Given the description of an element on the screen output the (x, y) to click on. 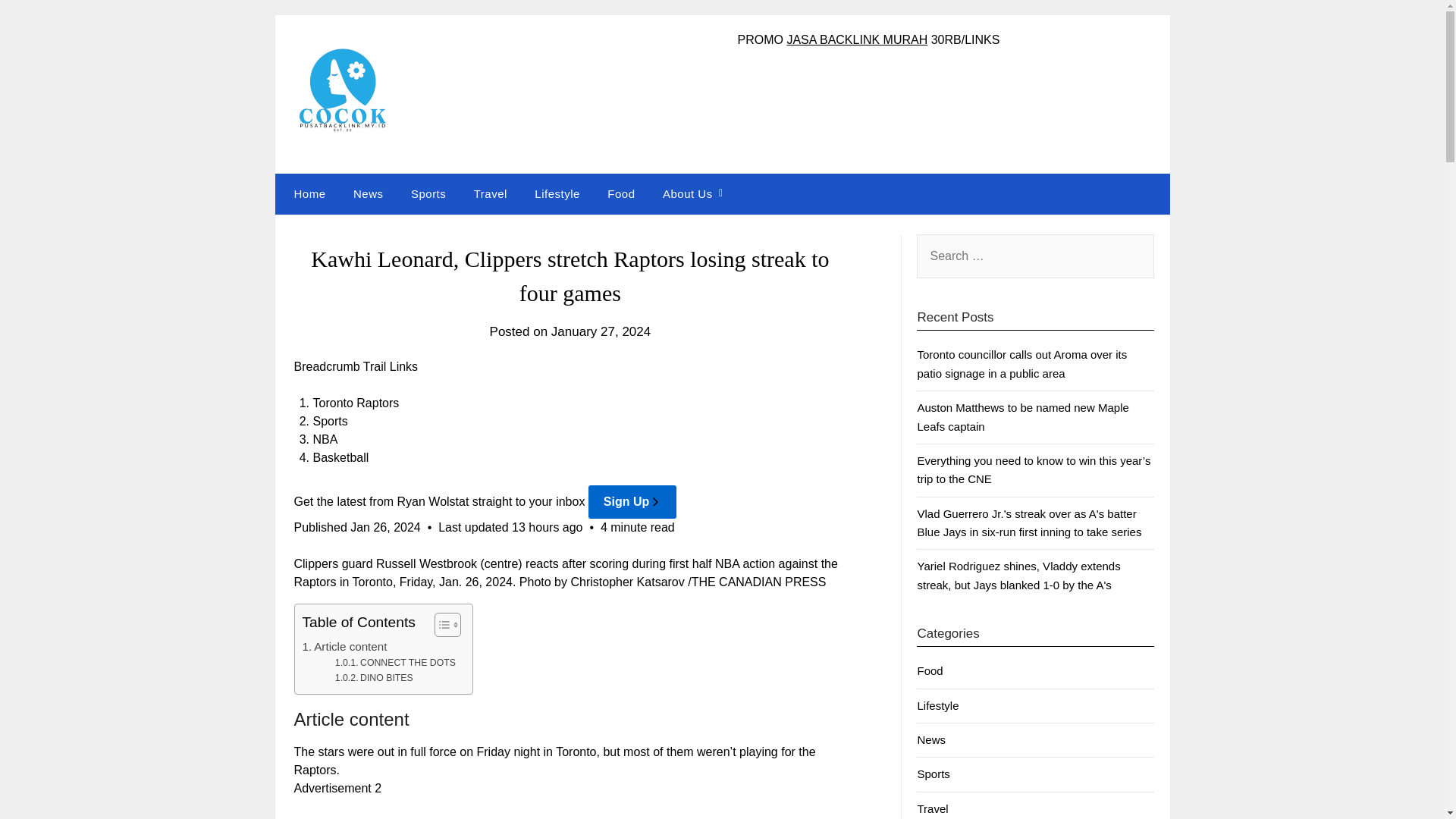
About Us (687, 193)
Search (38, 22)
Lifestyle (937, 705)
CONNECT THE DOTS (394, 663)
Food (620, 193)
Sports (428, 193)
Lifestyle (557, 193)
Auston Matthews to be named new Maple Leafs captain (1022, 416)
